Given the description of an element on the screen output the (x, y) to click on. 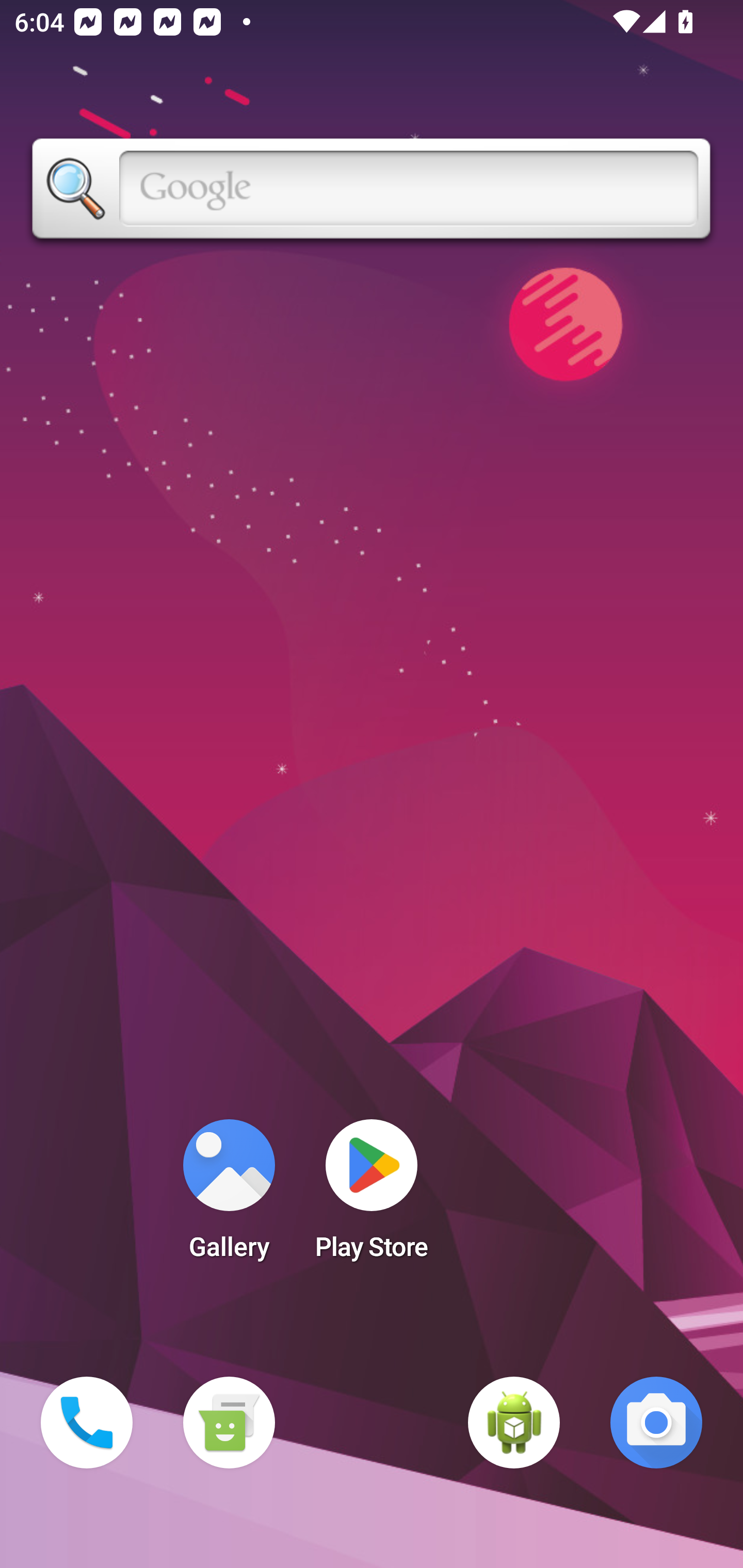
Gallery (228, 1195)
Play Store (371, 1195)
Phone (86, 1422)
Messaging (228, 1422)
WebView Browser Tester (513, 1422)
Camera (656, 1422)
